Given the description of an element on the screen output the (x, y) to click on. 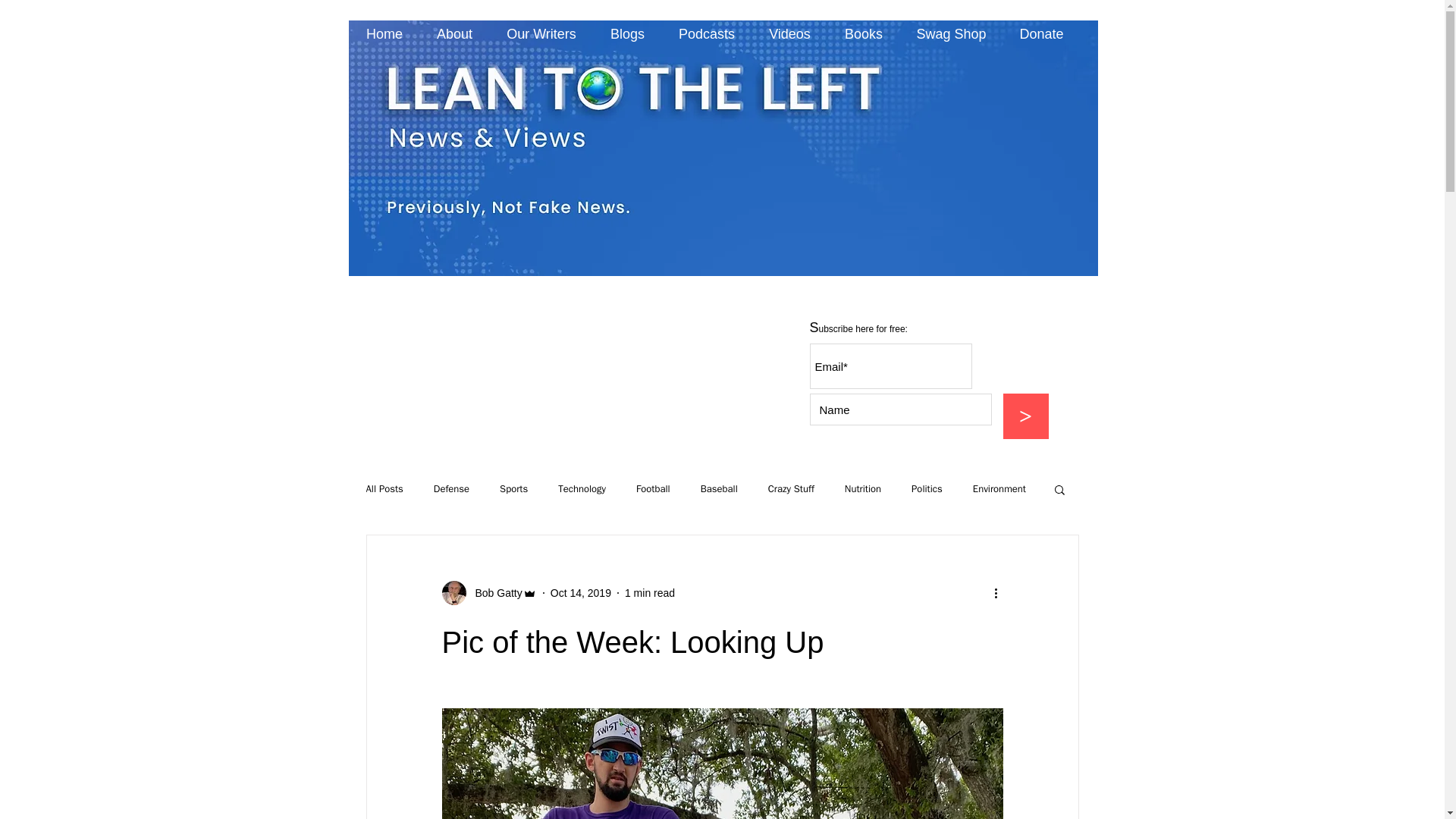
About (454, 34)
Swag Shop (951, 34)
All Posts (384, 489)
Bob Gatty (493, 593)
Football (652, 489)
Donate (1041, 34)
Our Writers (541, 34)
Podcasts (706, 34)
Defense (450, 489)
Environment (999, 489)
